Given the description of an element on the screen output the (x, y) to click on. 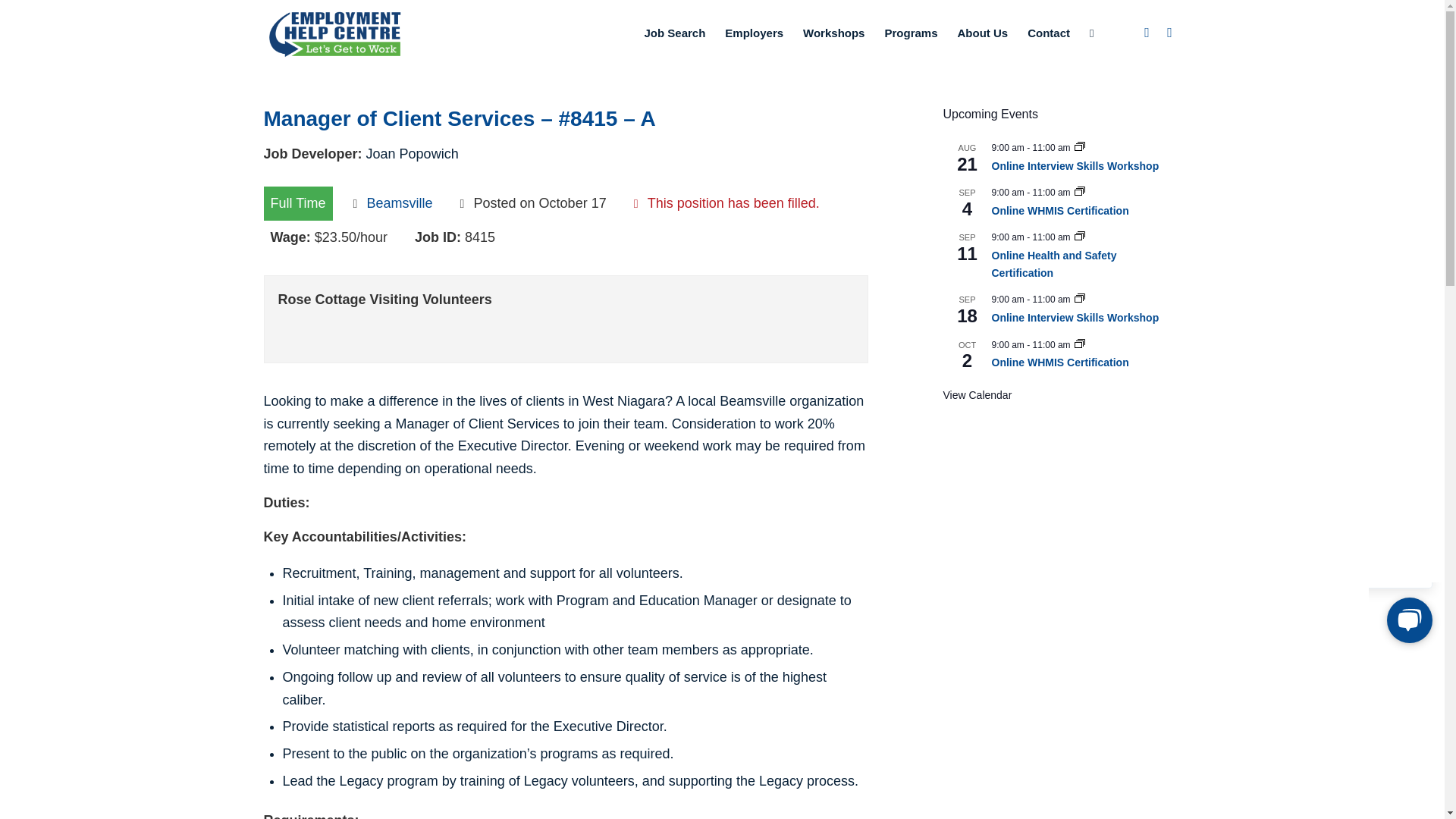
Online Interview Skills Workshop (1074, 165)
Event Series (1079, 236)
Online WHMIS Certification (1060, 362)
Online WHMIS Certification (1060, 362)
Facebook (1146, 32)
Beamsville (399, 202)
Event Series (1079, 147)
Event Series (1079, 192)
Online Health and Safety Certification (1053, 264)
Job Search (673, 33)
